Given the description of an element on the screen output the (x, y) to click on. 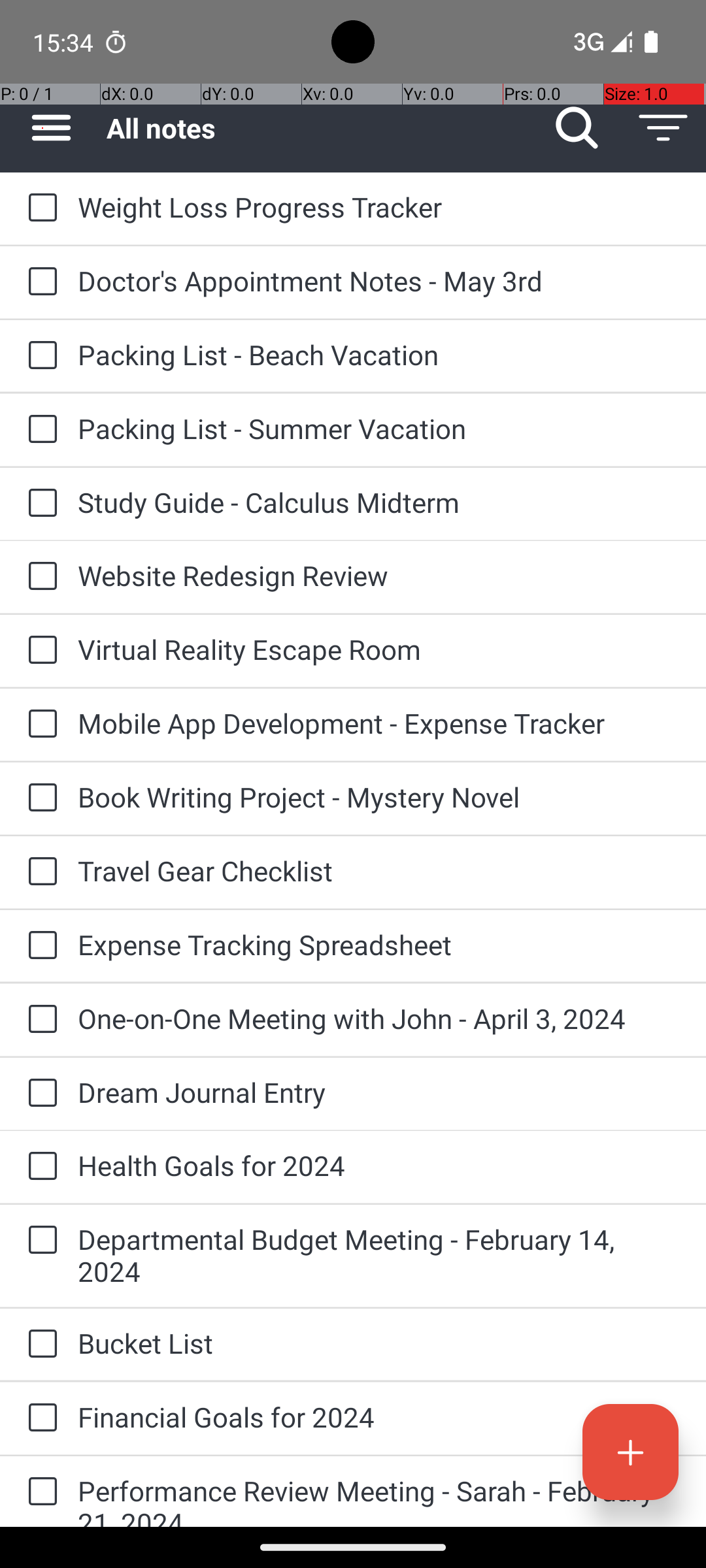
to-do: Weight Loss Progress Tracker Element type: android.widget.CheckBox (38, 208)
Weight Loss Progress Tracker Element type: android.widget.TextView (378, 206)
to-do: Doctor's Appointment Notes - May 3rd Element type: android.widget.CheckBox (38, 282)
Doctor's Appointment Notes - May 3rd Element type: android.widget.TextView (378, 280)
to-do: Packing List - Beach Vacation Element type: android.widget.CheckBox (38, 356)
Packing List - Beach Vacation Element type: android.widget.TextView (378, 354)
to-do: Packing List - Summer Vacation Element type: android.widget.CheckBox (38, 429)
Packing List - Summer Vacation Element type: android.widget.TextView (378, 427)
to-do: Study Guide - Calculus Midterm Element type: android.widget.CheckBox (38, 503)
Study Guide - Calculus Midterm Element type: android.widget.TextView (378, 501)
to-do: Website Redesign Review Element type: android.widget.CheckBox (38, 576)
Website Redesign Review Element type: android.widget.TextView (378, 574)
to-do: Mobile App Development - Expense Tracker Element type: android.widget.CheckBox (38, 724)
Mobile App Development - Expense Tracker Element type: android.widget.TextView (378, 722)
to-do: Book Writing Project - Mystery Novel Element type: android.widget.CheckBox (38, 798)
Book Writing Project - Mystery Novel Element type: android.widget.TextView (378, 796)
to-do: Travel Gear Checklist Element type: android.widget.CheckBox (38, 872)
Travel Gear Checklist Element type: android.widget.TextView (378, 870)
to-do: Expense Tracking Spreadsheet Element type: android.widget.CheckBox (38, 945)
Expense Tracking Spreadsheet Element type: android.widget.TextView (378, 944)
to-do: One-on-One Meeting with John - April 3, 2024 Element type: android.widget.CheckBox (38, 1019)
One-on-One Meeting with John - April 3, 2024 Element type: android.widget.TextView (378, 1017)
to-do: Dream Journal Entry Element type: android.widget.CheckBox (38, 1093)
Dream Journal Entry Element type: android.widget.TextView (378, 1091)
to-do: Health Goals for 2024 Element type: android.widget.CheckBox (38, 1166)
Health Goals for 2024 Element type: android.widget.TextView (378, 1164)
to-do: Departmental Budget Meeting - February 14, 2024 Element type: android.widget.CheckBox (38, 1240)
Departmental Budget Meeting - February 14, 2024 Element type: android.widget.TextView (378, 1254)
to-do: Bucket List Element type: android.widget.CheckBox (38, 1344)
Bucket List Element type: android.widget.TextView (378, 1342)
to-do: Financial Goals for 2024 Element type: android.widget.CheckBox (38, 1418)
Financial Goals for 2024 Element type: android.widget.TextView (378, 1416)
to-do: Performance Review Meeting - Sarah - February 21, 2024 Element type: android.widget.CheckBox (38, 1491)
Performance Review Meeting - Sarah - February 21, 2024 Element type: android.widget.TextView (378, 1498)
